Given the description of an element on the screen output the (x, y) to click on. 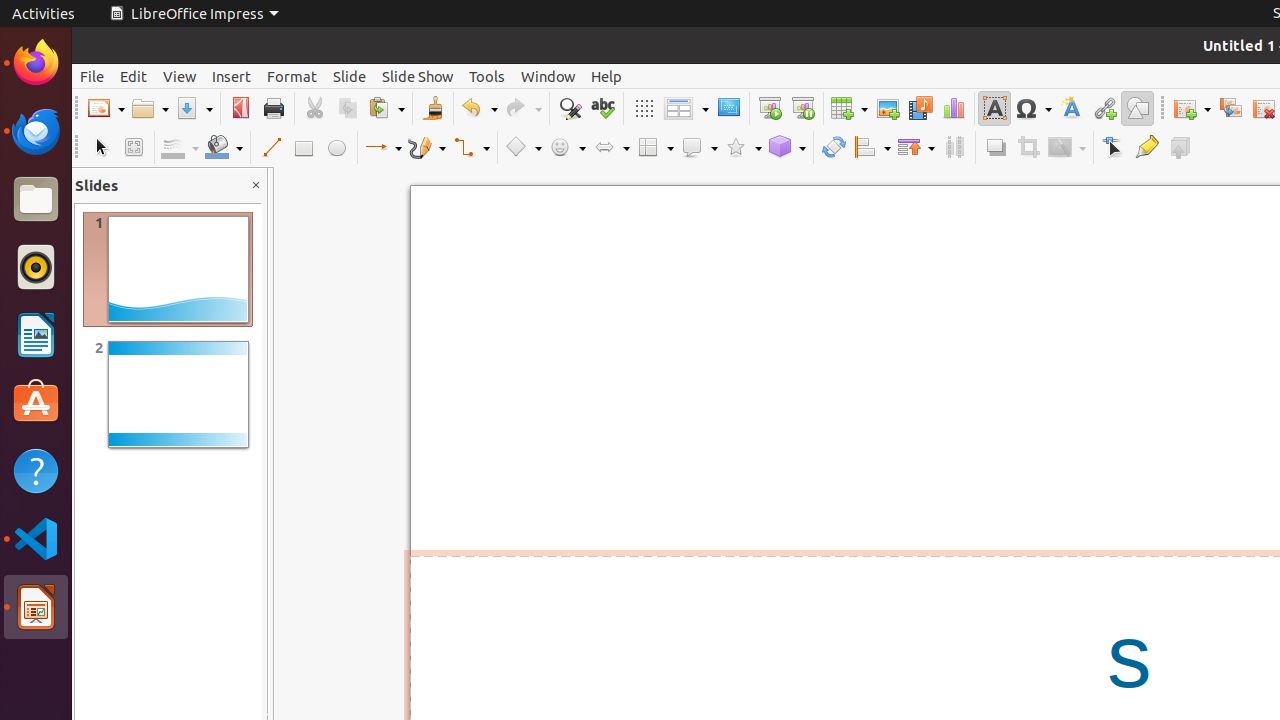
Chart Element type: push-button (953, 108)
Rhythmbox Element type: push-button (36, 267)
Tools Element type: menu (487, 76)
Star Shapes Element type: push-button (743, 147)
Draw Functions Element type: toggle-button (1137, 108)
